Given the description of an element on the screen output the (x, y) to click on. 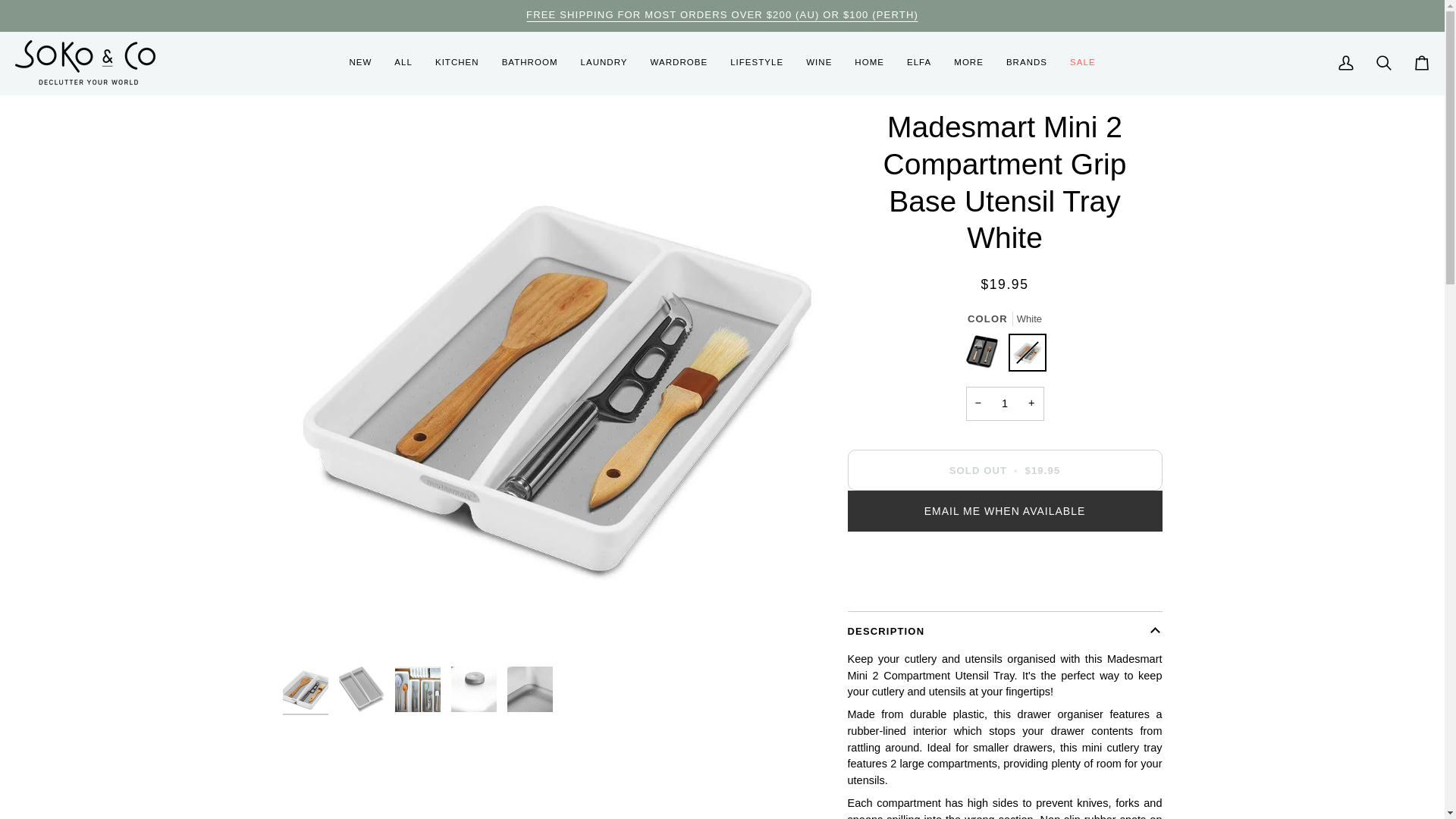
NEW (359, 63)
KITCHEN (456, 63)
1 (1004, 403)
Shipping Policy (721, 14)
White (1027, 356)
Carbon (985, 356)
ALL (402, 63)
BATHROOM (529, 63)
